Given the description of an element on the screen output the (x, y) to click on. 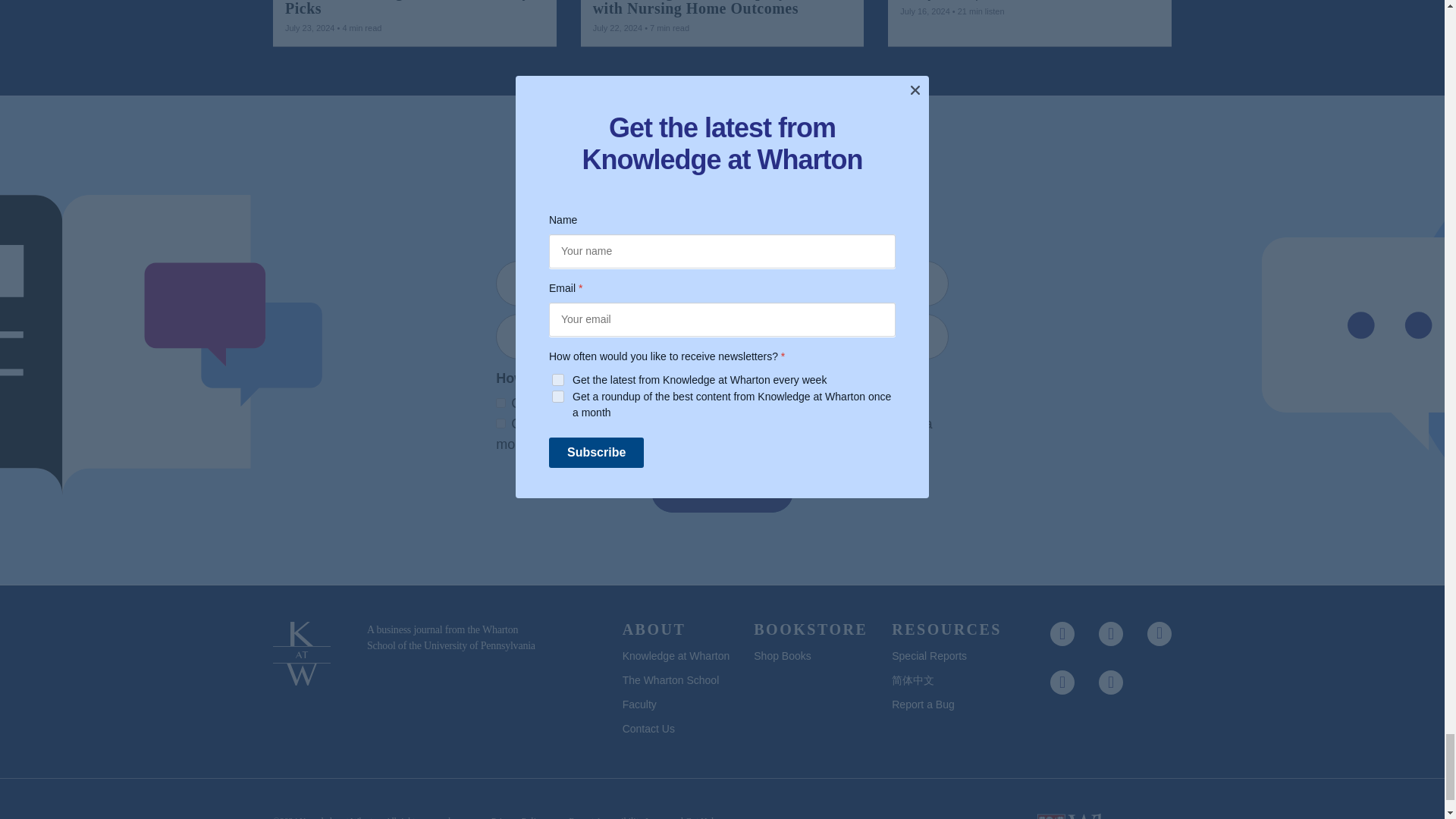
6836382 (500, 402)
6825401 (500, 423)
Knowledge at Wharton (340, 817)
